Given the description of an element on the screen output the (x, y) to click on. 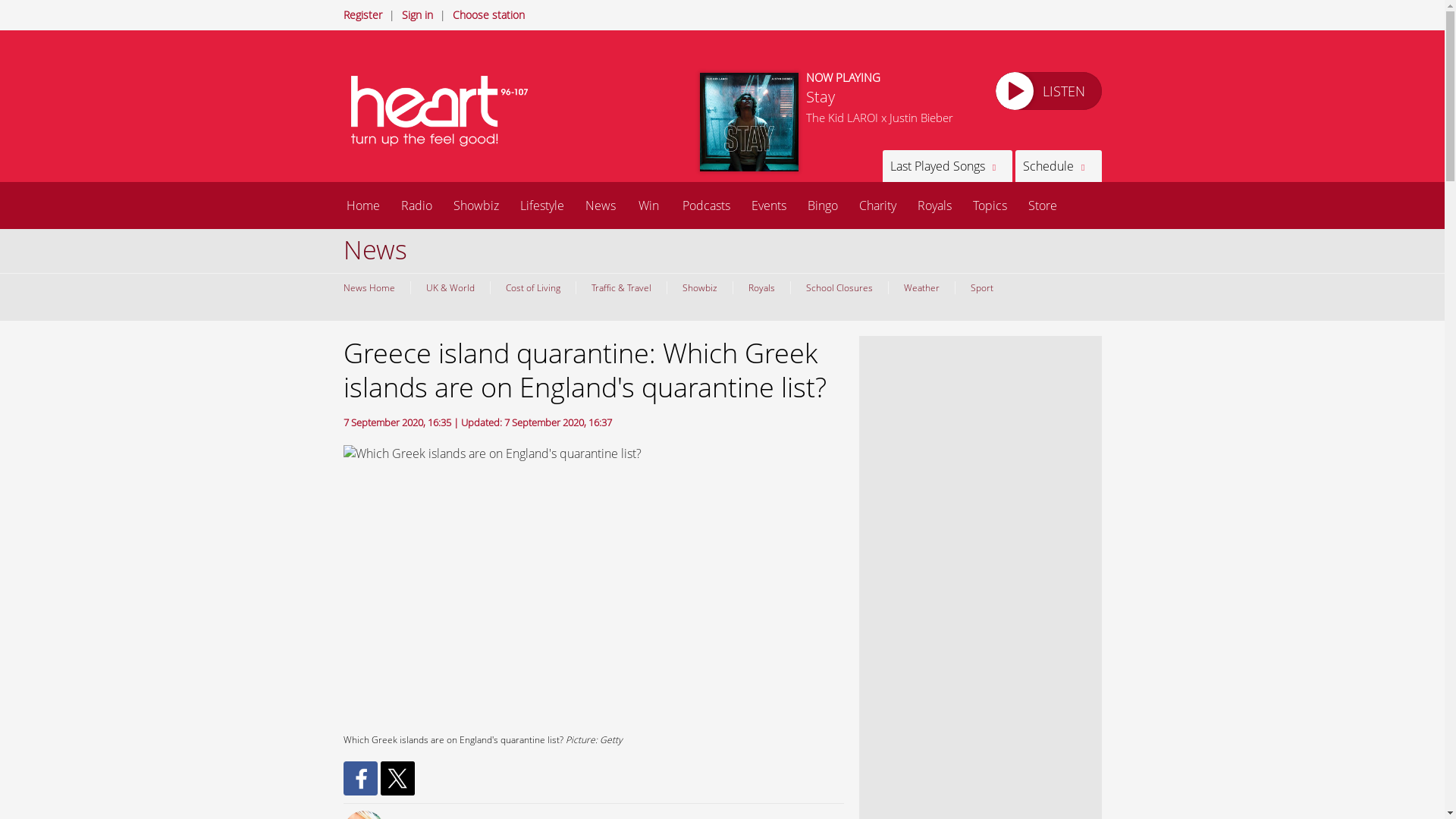
Choose station (487, 14)
LISTEN (1047, 90)
Cost of Living (532, 287)
Events (767, 205)
Sign in (416, 14)
Topics (988, 205)
School Closures (839, 287)
Radio (416, 205)
Register (361, 14)
Win (648, 205)
Weather (919, 287)
Showbiz (698, 287)
News (600, 205)
Home (362, 205)
Royals (934, 205)
